Given the description of an element on the screen output the (x, y) to click on. 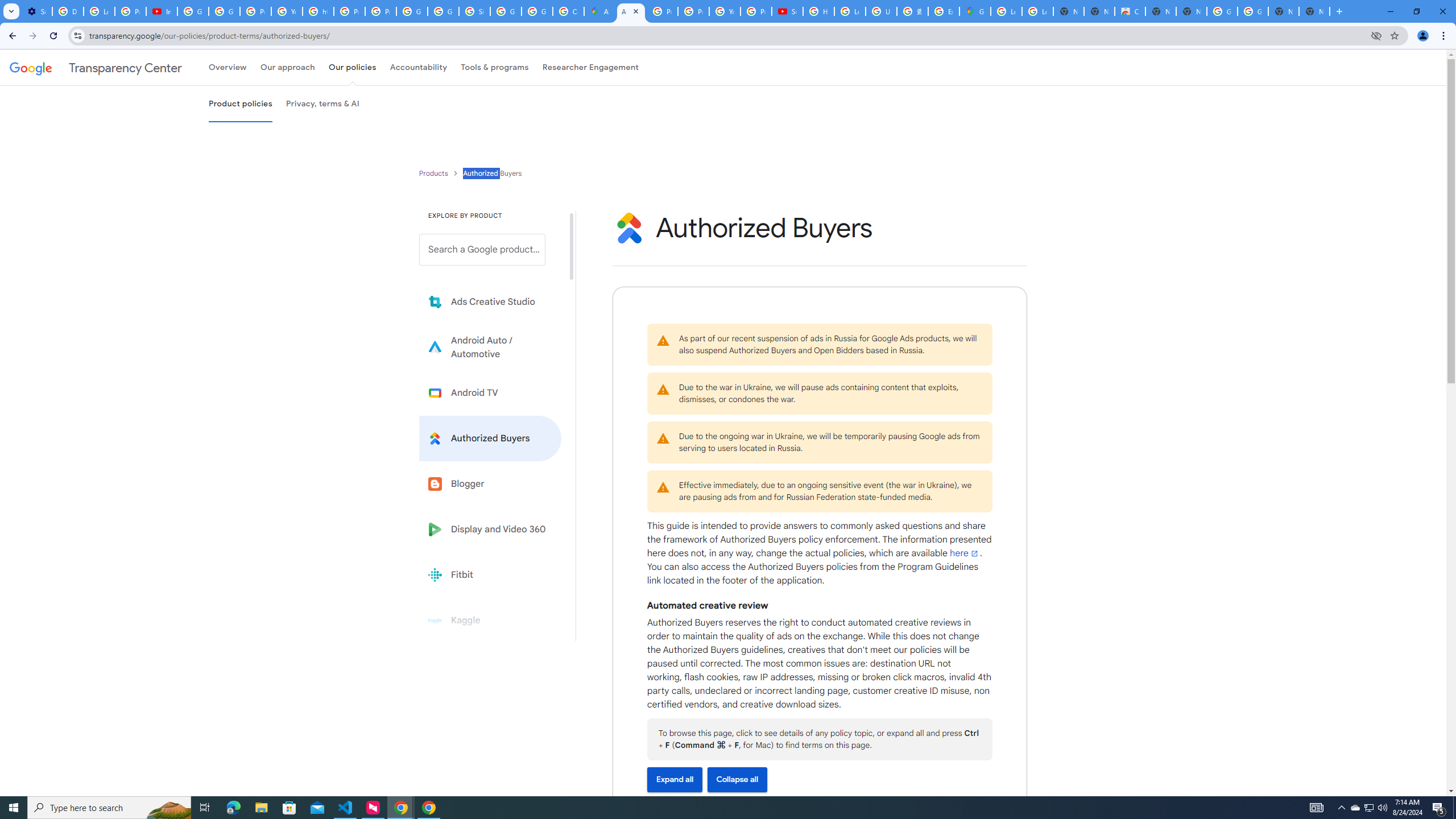
Transparency Center (95, 67)
Learn more about Ads Creative Studio (490, 302)
Blogger (490, 483)
Create your Google Account (568, 11)
Learn more about Ads Creative Studio (490, 302)
Search a Google product from below list. (481, 249)
YouTube (724, 11)
How Chrome protects your passwords - Google Chrome Help (818, 11)
Researcher Engagement (590, 67)
Our policies (351, 67)
Overview (226, 67)
